Given the description of an element on the screen output the (x, y) to click on. 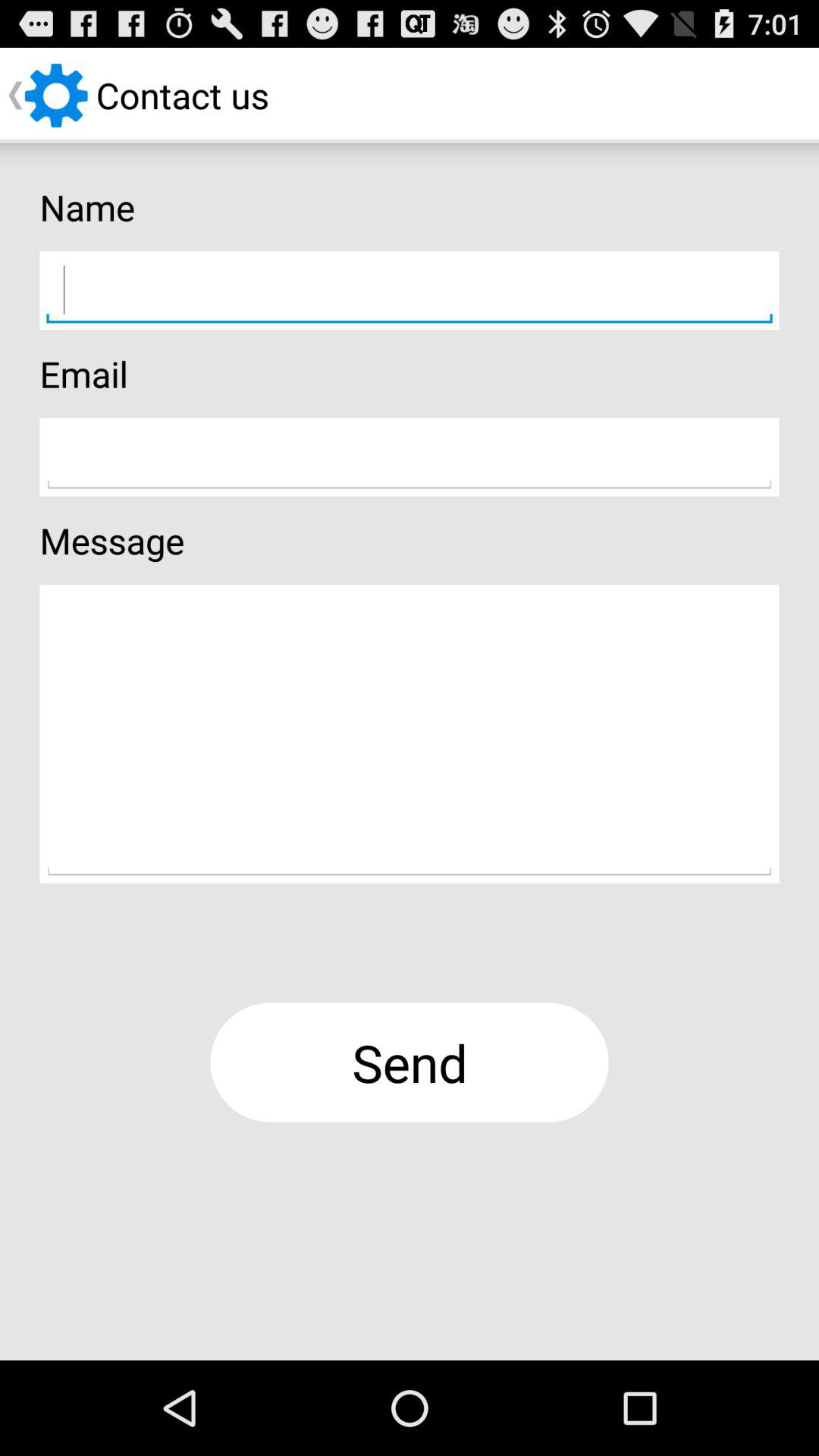
press button at the bottom (409, 1062)
